Given the description of an element on the screen output the (x, y) to click on. 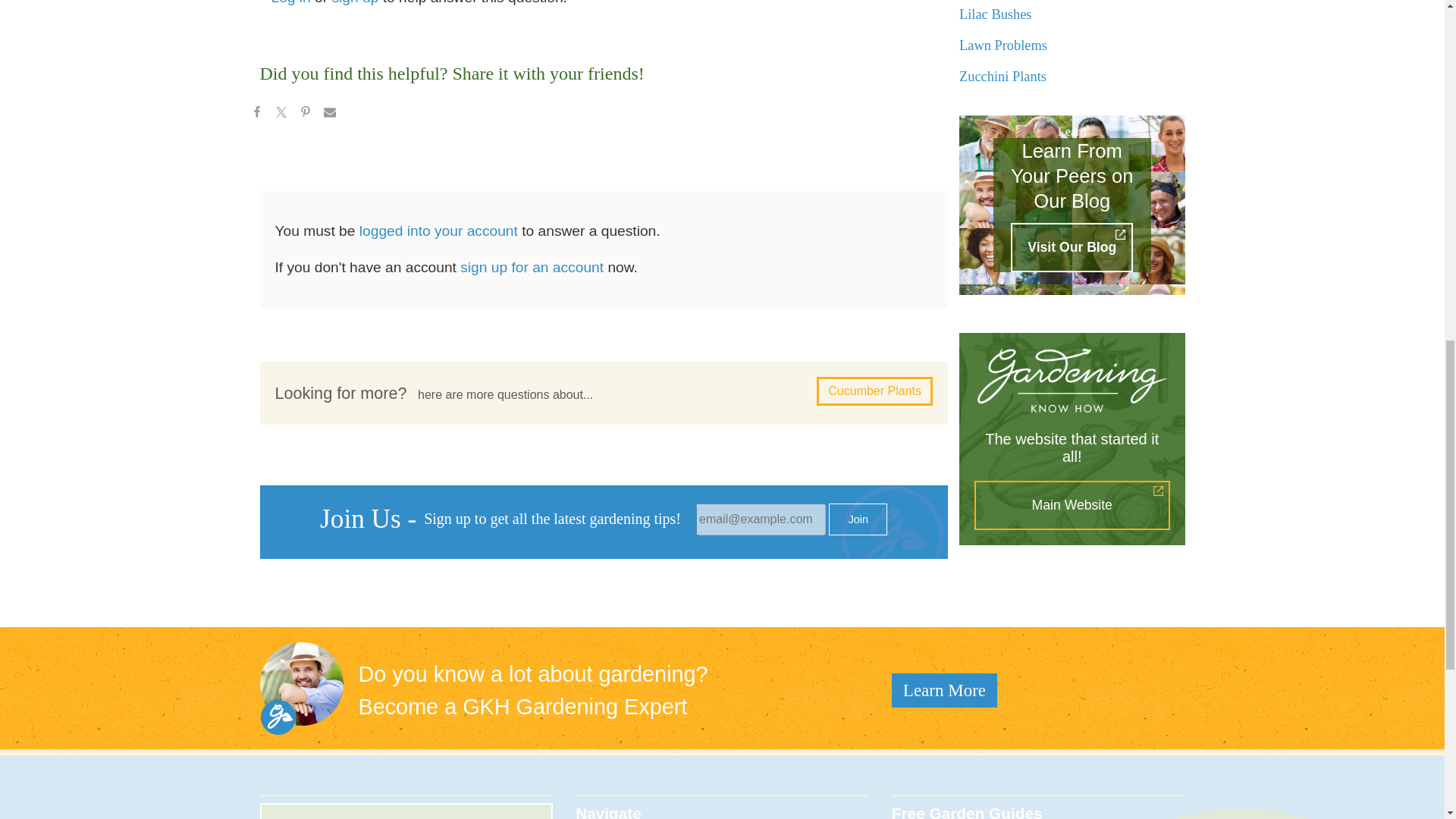
Log in (290, 2)
Cucumber Plants (874, 390)
sign up (354, 2)
Join (857, 519)
Share on Facebook (255, 113)
sign up for an account (532, 267)
Share on Twitter (279, 113)
Share on Pinterest (304, 113)
Share via Email (328, 113)
logged into your account (438, 230)
